Given the description of an element on the screen output the (x, y) to click on. 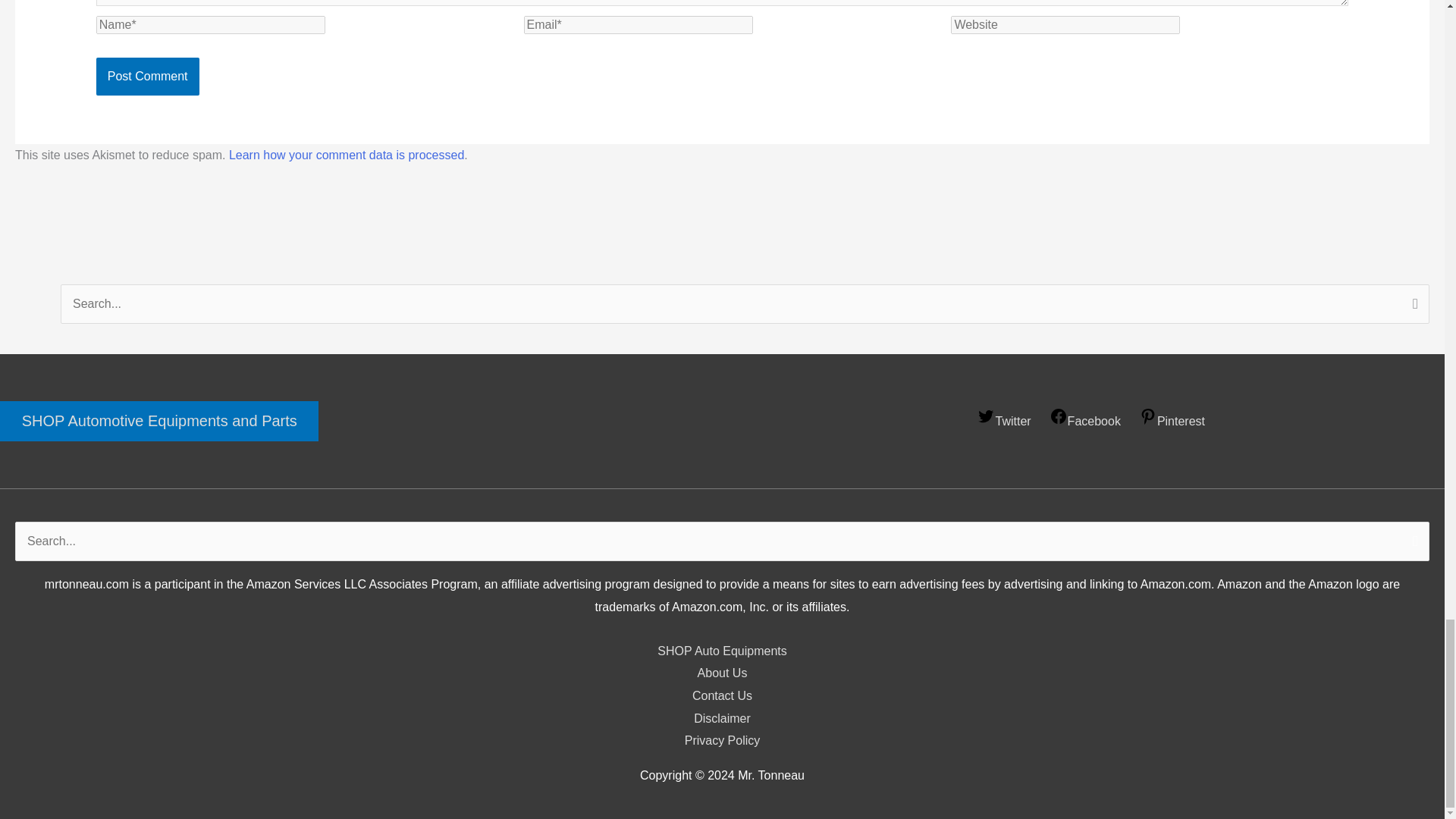
Post Comment (147, 76)
Search (1411, 542)
Search (1411, 542)
Search (1411, 305)
Search (1411, 305)
